Given the description of an element on the screen output the (x, y) to click on. 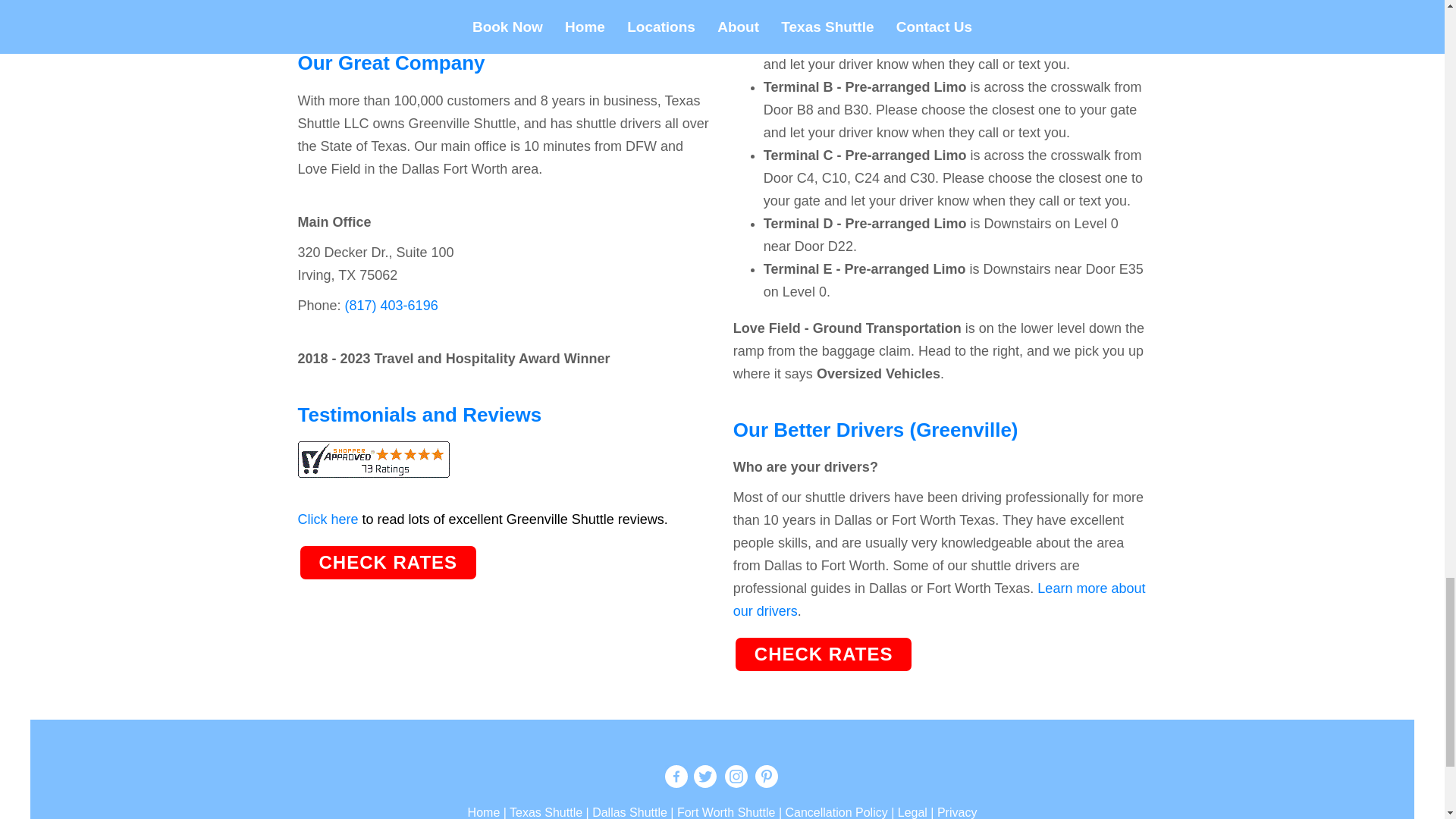
CHECK RATES (388, 561)
Dallas Shuttle (629, 812)
Texas Shuttle (545, 812)
Texas Shuttle Twitter (704, 777)
Texas Shuttle Reviews (372, 459)
Texas Shuttle Reviews (372, 465)
Shuttle Phoenix to Tucson Reviews (481, 518)
Texas Shuttle Instagram (735, 777)
CHECK RATES (823, 654)
Texas Shuttle Pinterest (765, 777)
